Given the description of an element on the screen output the (x, y) to click on. 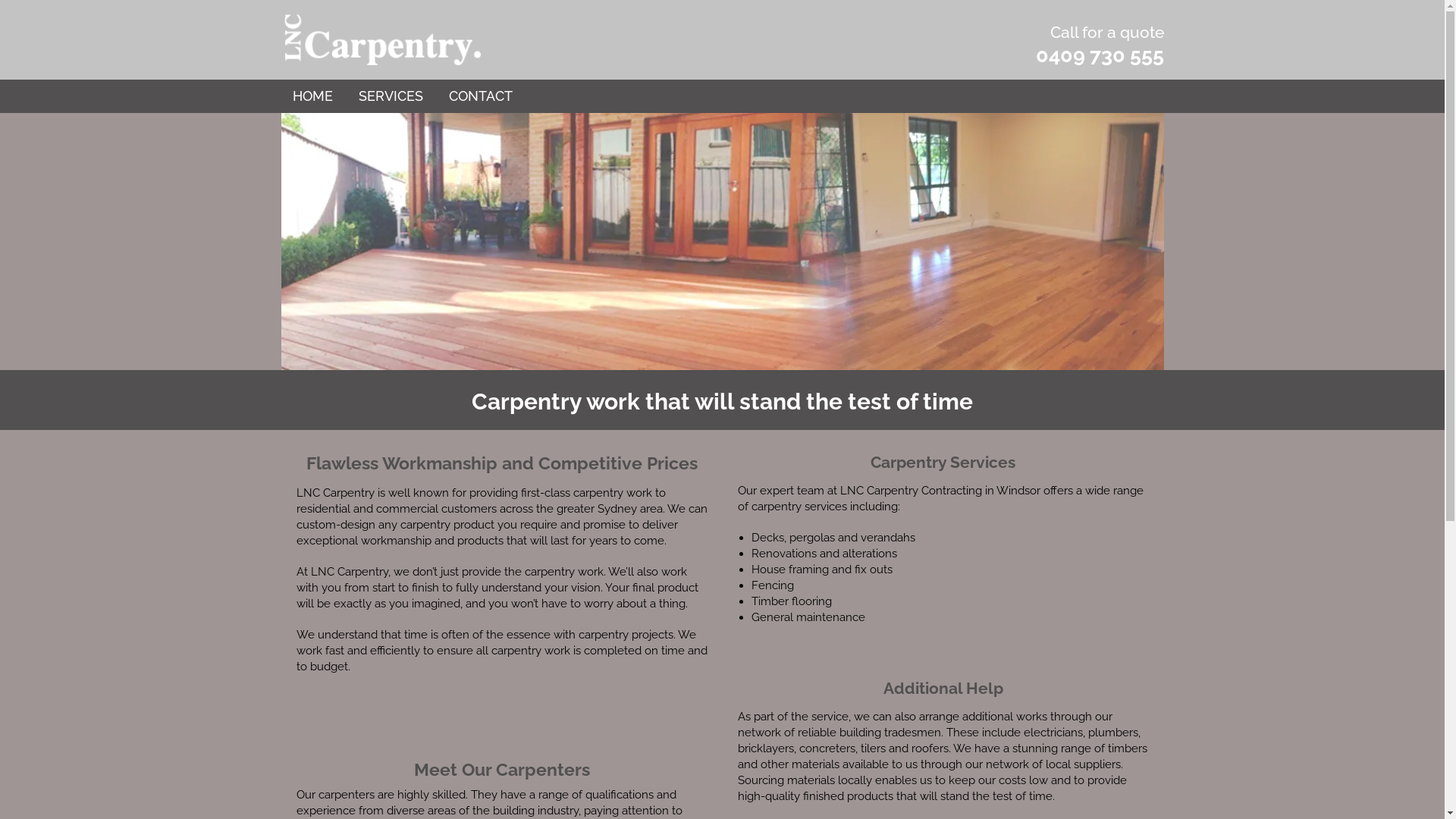
lnc carpentry contracting tools Element type: hover (721, 241)
CONTACT Element type: text (480, 96)
HOME Element type: text (312, 96)
stand Element type: text (769, 401)
SERVICES Element type: text (389, 96)
0409 730 555 Element type: text (1099, 54)
